Given the description of an element on the screen output the (x, y) to click on. 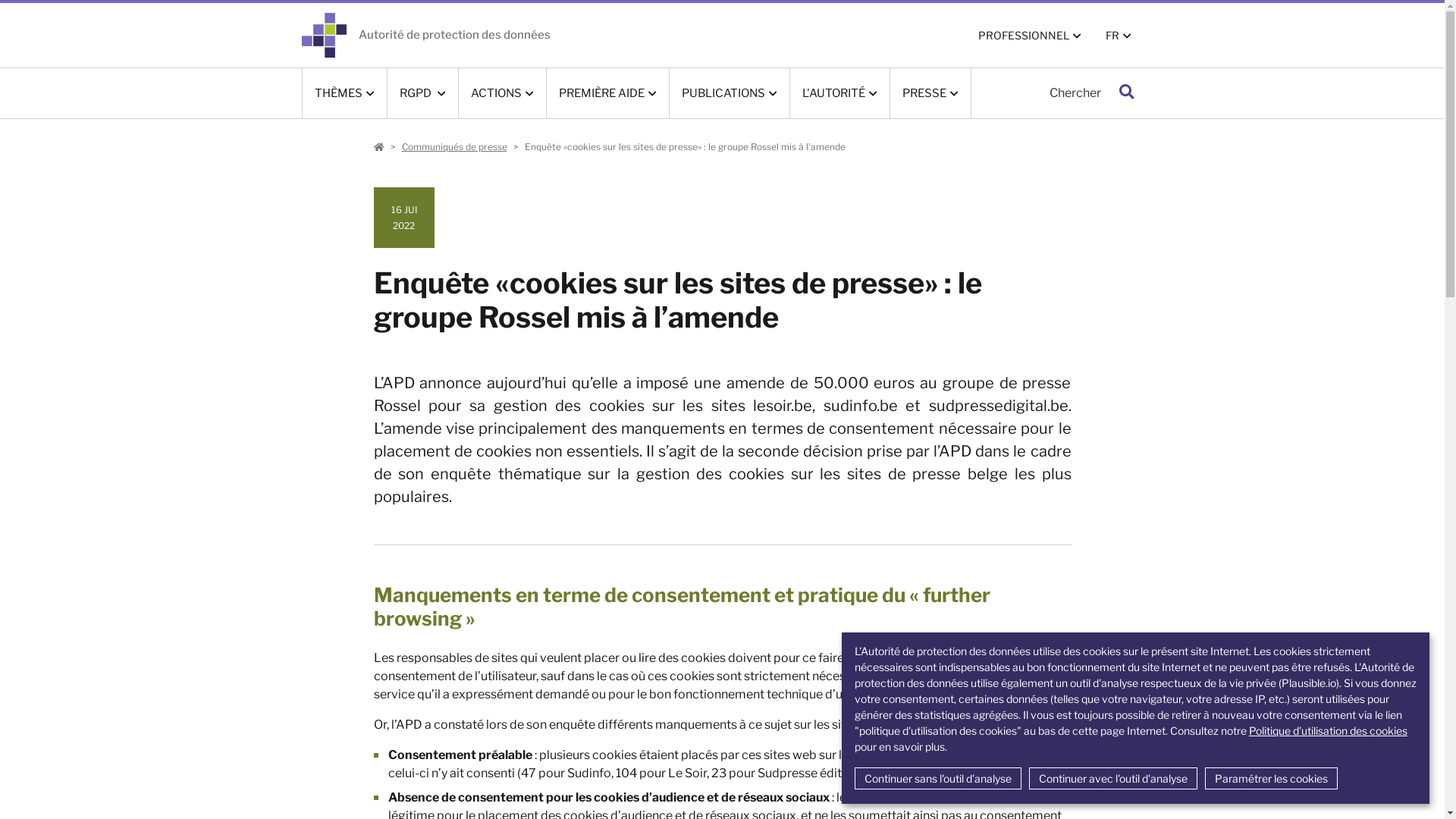
Continuer sans l'outil d'analyse Element type: text (937, 778)
PRESSE Element type: text (930, 93)
ACTIONS Element type: text (501, 93)
FR Element type: text (1118, 35)
Continuer avec l'outil d'analyse Element type: text (1113, 778)
Rechercher Element type: text (1125, 92)
Politique d'utilisation des cookies Element type: text (1327, 730)
PROFESSIONNEL Element type: text (1029, 35)
Professionnel Element type: text (378, 146)
RGPD Element type: text (421, 93)
PUBLICATIONS Element type: text (728, 93)
